Given the description of an element on the screen output the (x, y) to click on. 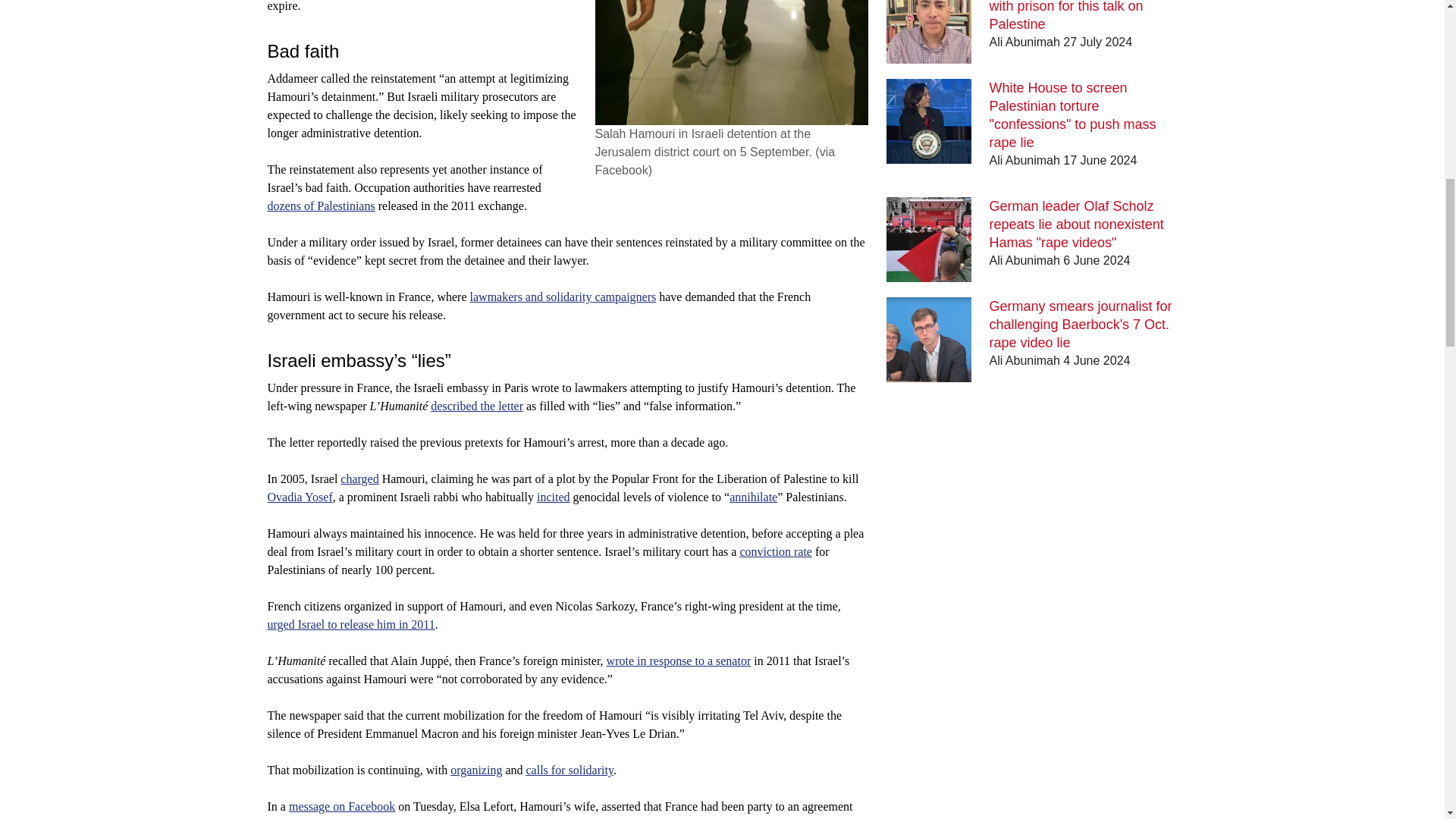
Ovadia Yosef (298, 496)
organizing (475, 769)
lawmakers and solidarity campaigners (563, 296)
via Facebook (714, 160)
annihilate (753, 496)
incited (553, 496)
urged Israel to release him in 2011 (349, 624)
message on Facebook (341, 806)
dozens of Palestinians (320, 205)
described the letter (476, 405)
conviction rate (775, 551)
charged (359, 478)
wrote in response to a senator (679, 660)
calls for solidarity (568, 769)
